Given the description of an element on the screen output the (x, y) to click on. 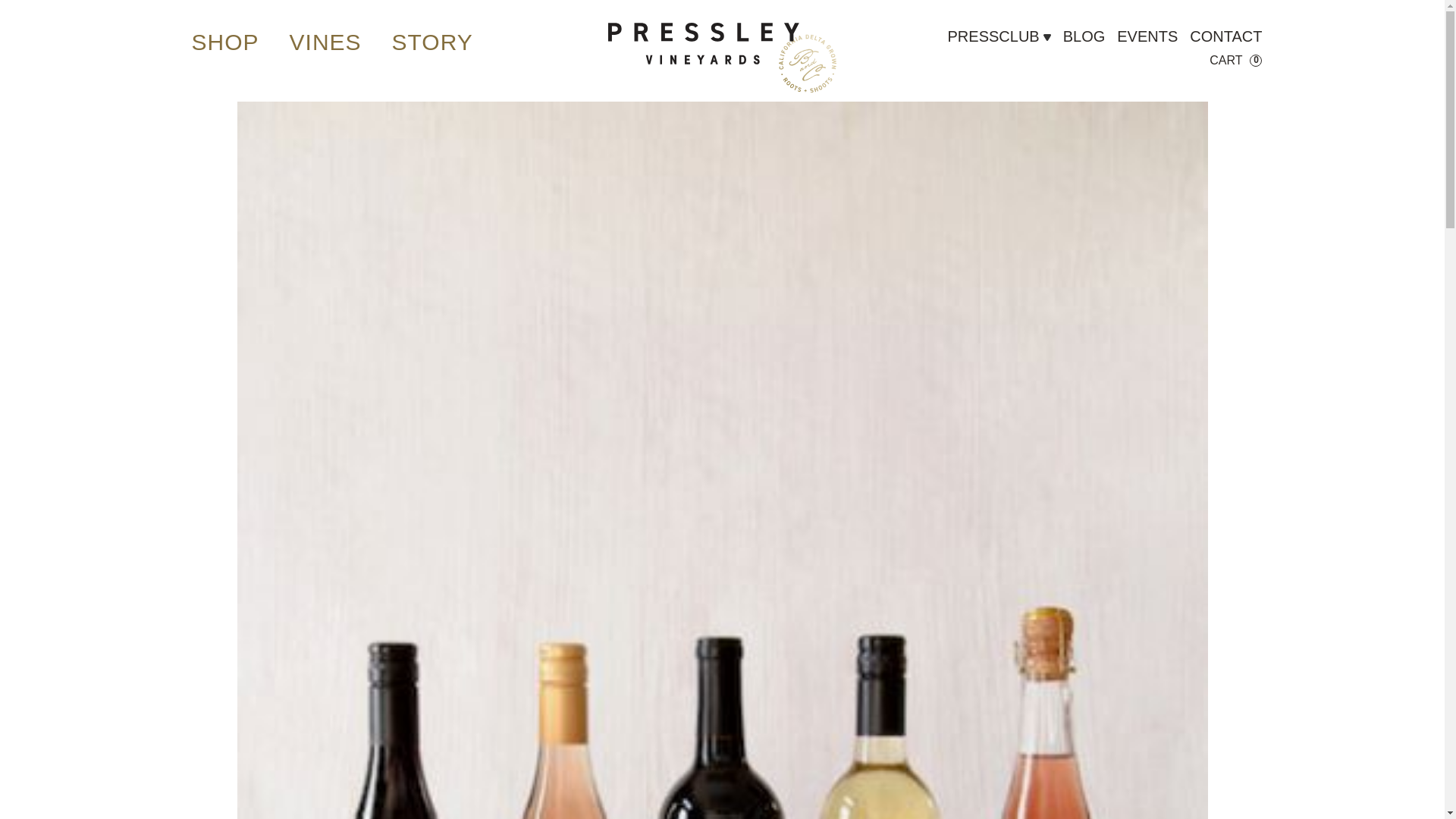
PRESSCLUB (993, 47)
STORY (432, 41)
SHOP (224, 41)
CONTACT (1225, 36)
VINES (325, 41)
EVENTS (1146, 36)
BLOG (1083, 36)
